Given the description of an element on the screen output the (x, y) to click on. 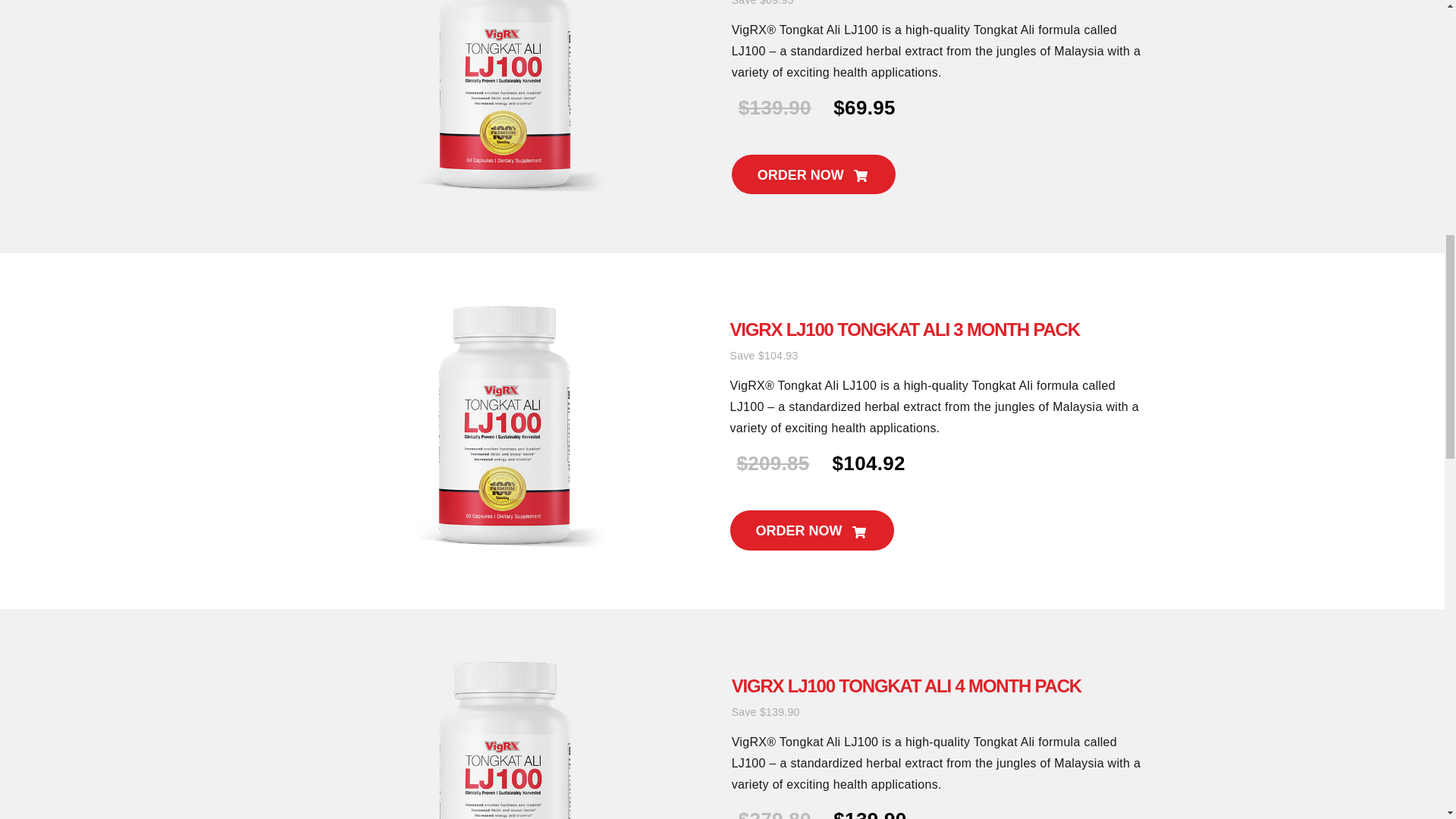
ORDER NOW (813, 174)
VIGRX LJ100 TONGKAT ALI 3 MONTH PACK (903, 329)
VIGRX LJ100 TONGKAT ALI 4 MONTH PACK (906, 685)
ORDER NOW (811, 529)
